Given the description of an element on the screen output the (x, y) to click on. 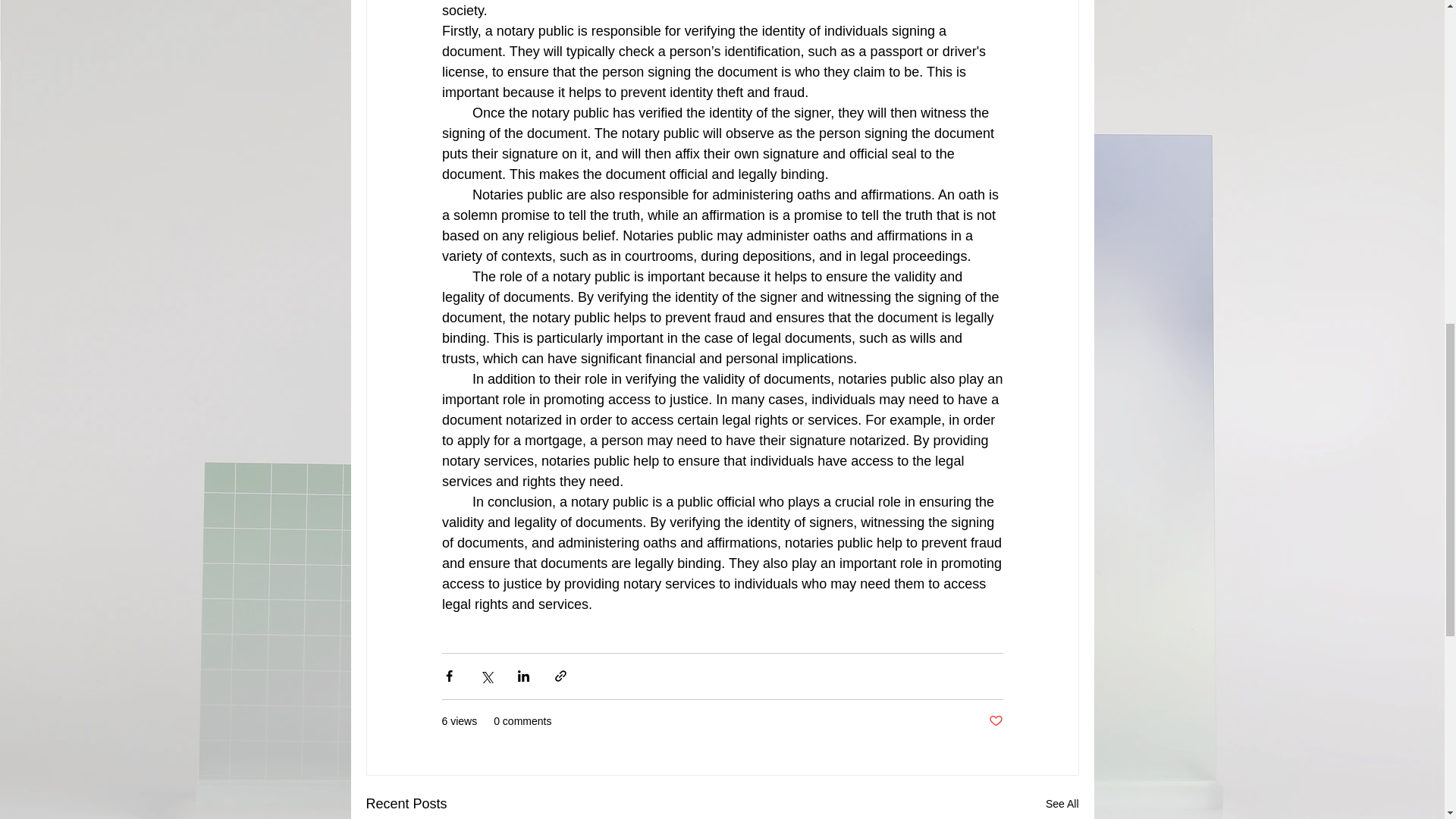
Post not marked as liked (995, 721)
See All (1061, 803)
